Given the description of an element on the screen output the (x, y) to click on. 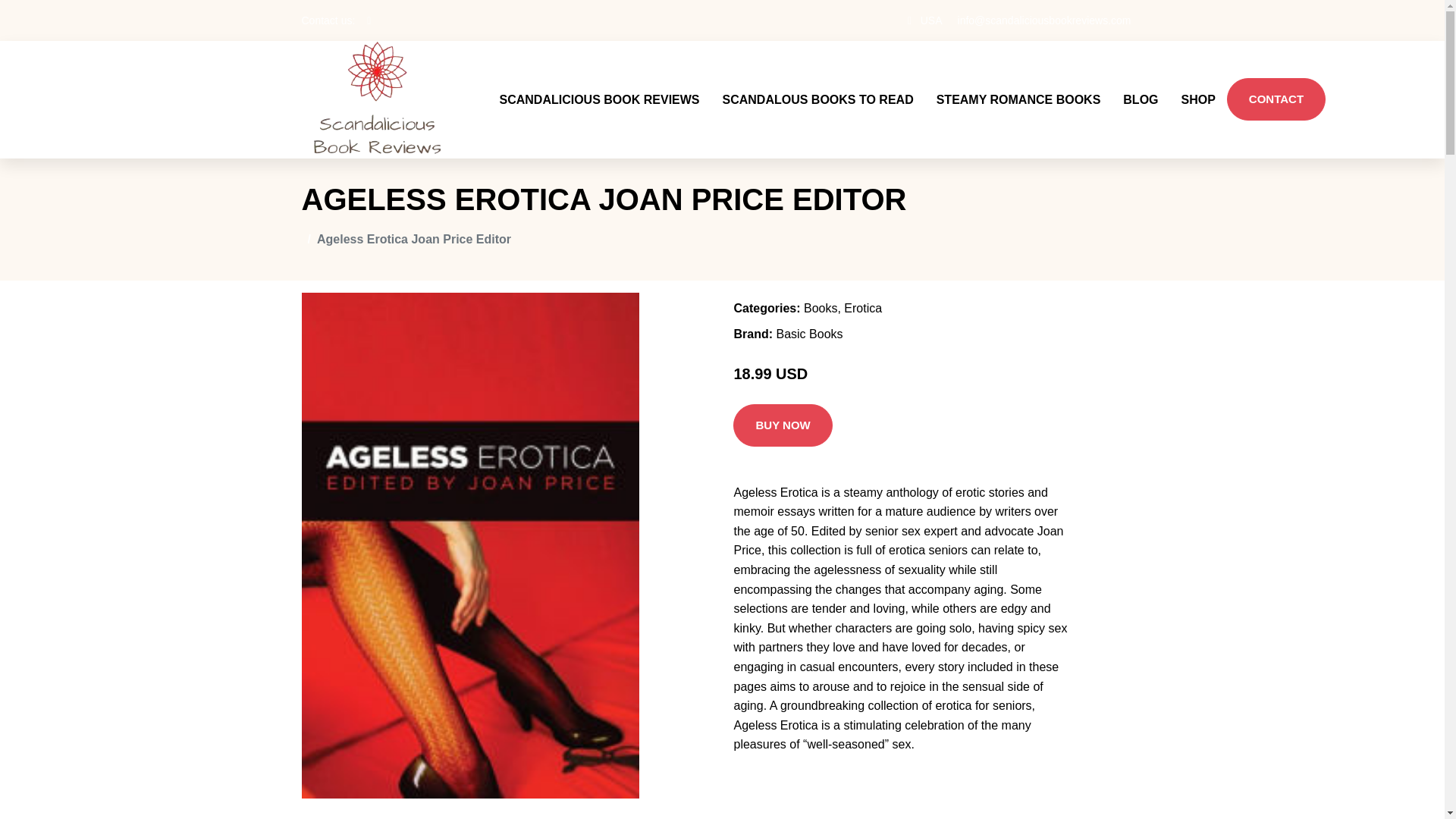
SCANDALICIOUS BOOK REVIEWS (599, 80)
CONTACT (1275, 79)
SCANDALOUS BOOKS TO READ (817, 80)
BUY NOW (782, 387)
USA (931, 20)
Erotica (863, 270)
STEAMY ROMANCE BOOKS (1018, 80)
Books (820, 270)
